Given the description of an element on the screen output the (x, y) to click on. 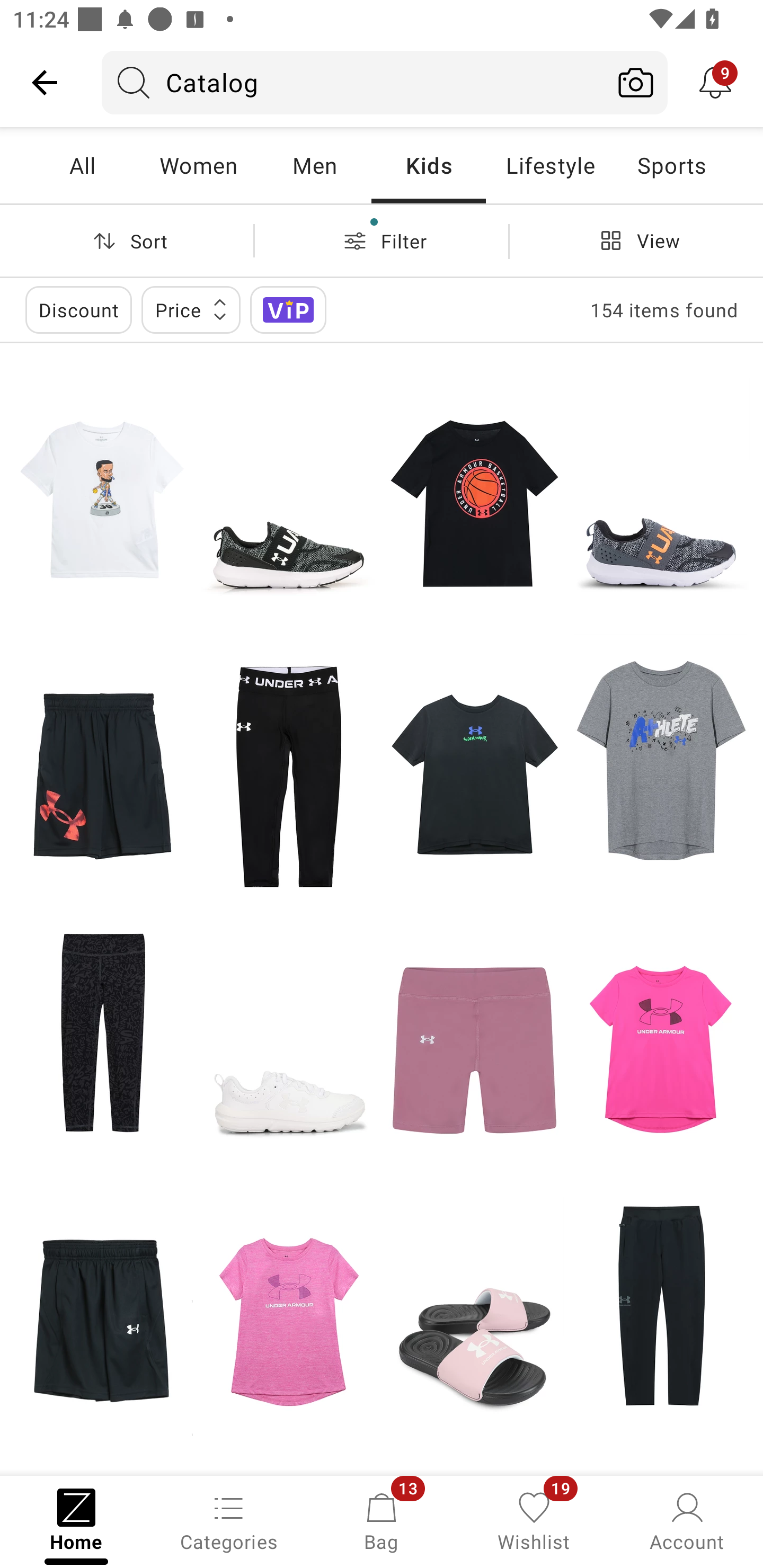
Navigate up (44, 82)
Catalog (352, 82)
All (82, 165)
Women (198, 165)
Men (314, 165)
Lifestyle (550, 165)
Sports (671, 165)
Sort (126, 240)
Filter (381, 240)
View (636, 240)
Discount (78, 309)
Price (190, 309)
Categories (228, 1519)
Bag, 13 new notifications Bag (381, 1519)
Wishlist, 19 new notifications Wishlist (533, 1519)
Account (686, 1519)
